Given the description of an element on the screen output the (x, y) to click on. 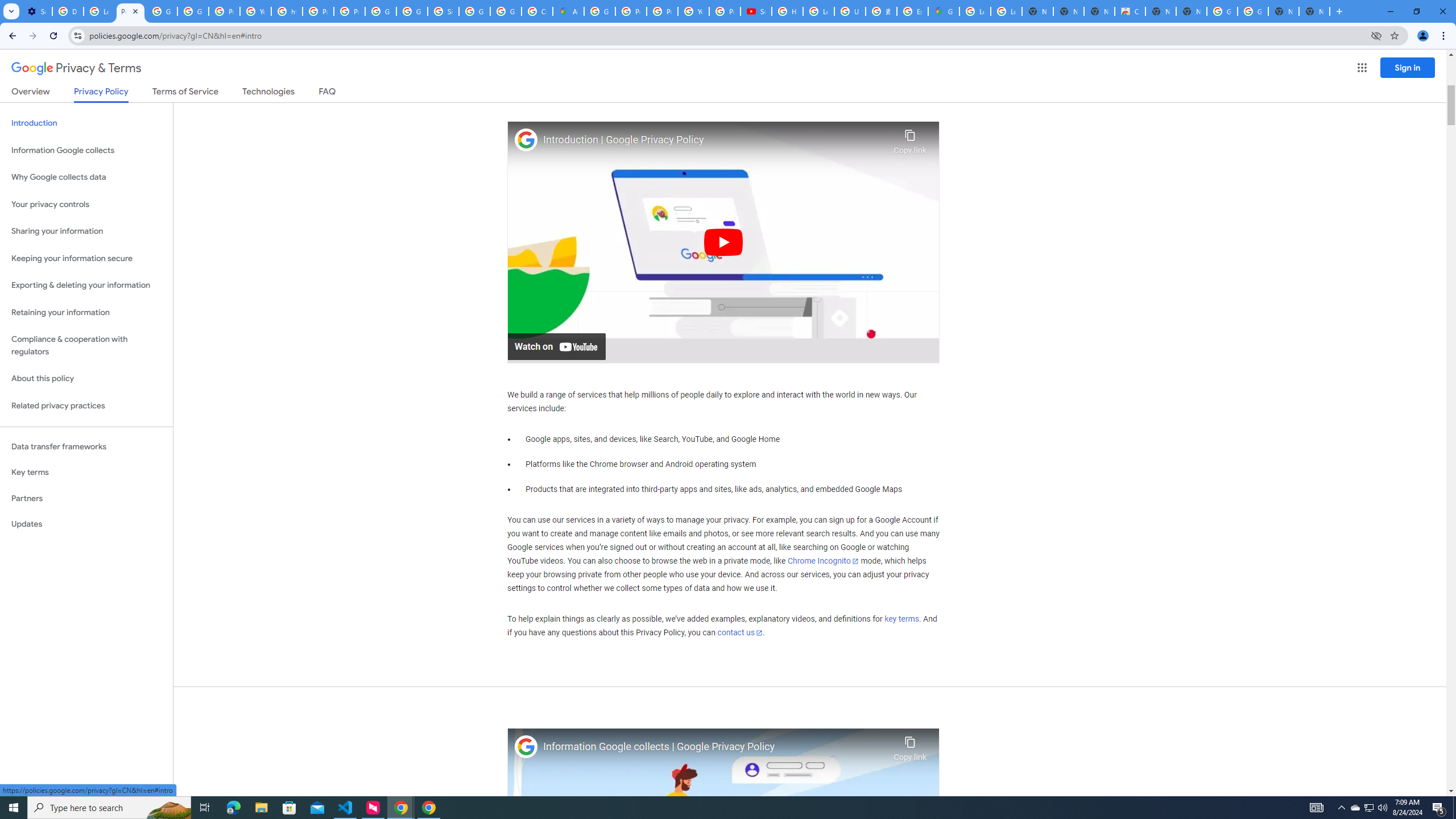
View site information (77, 35)
contact us (739, 633)
Exporting & deleting your information (86, 284)
Delete photos & videos - Computer - Google Photos Help (67, 11)
Play (723, 241)
Address and search bar (726, 35)
How Chrome protects your passwords - Google Chrome Help (787, 11)
Key terms (86, 472)
Google apps (1362, 67)
